Given the description of an element on the screen output the (x, y) to click on. 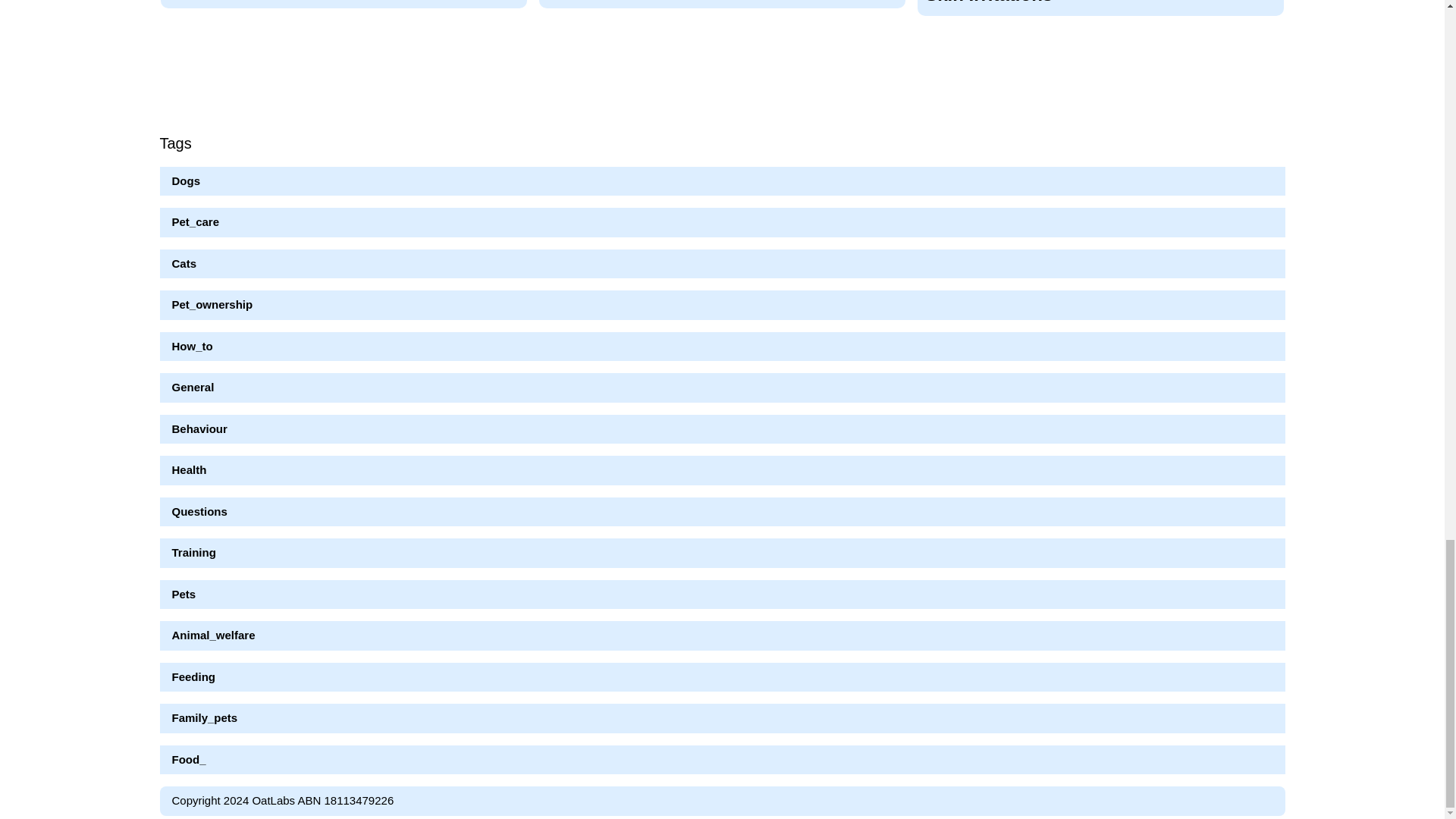
How To Care for Dogs with Summer Skin Irritations (1100, 13)
How to Start a Worm Farm (343, 9)
When to Desex Your Cat (721, 9)
Dogs (185, 180)
General (192, 386)
Cats (183, 263)
